Given the description of an element on the screen output the (x, y) to click on. 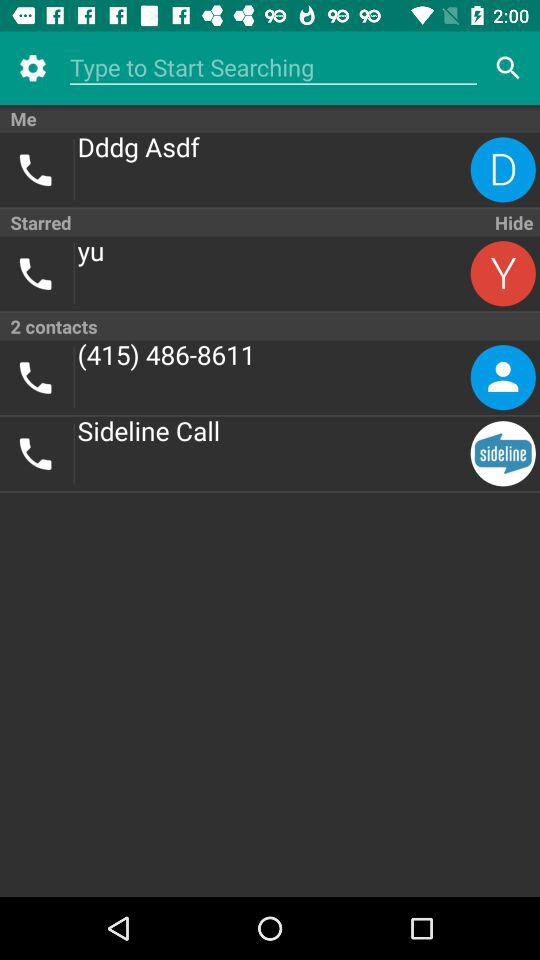
click the item to the right of the starred item (512, 222)
